Given the description of an element on the screen output the (x, y) to click on. 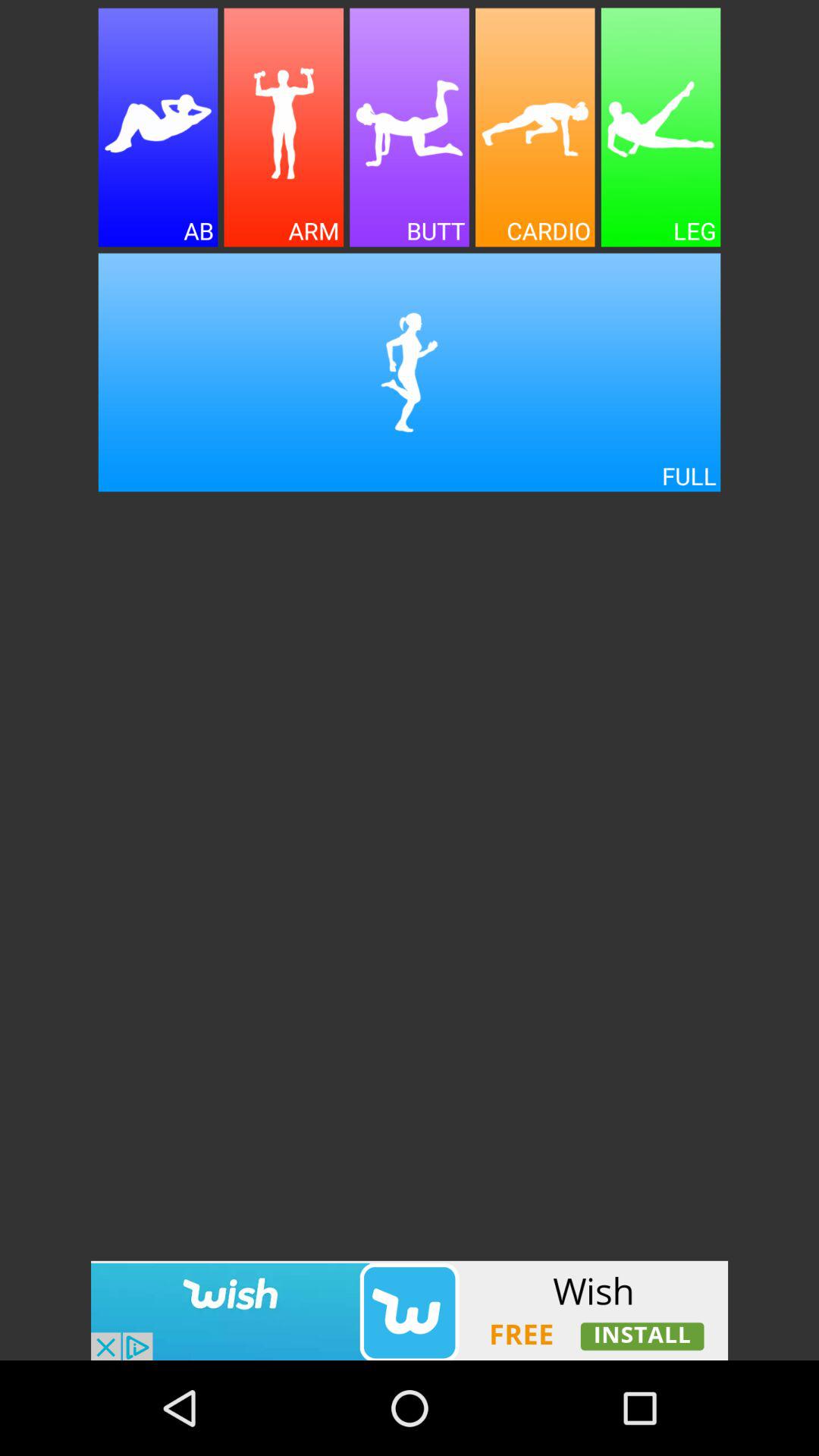
button for a page leading to arm exercises (283, 126)
